Given the description of an element on the screen output the (x, y) to click on. 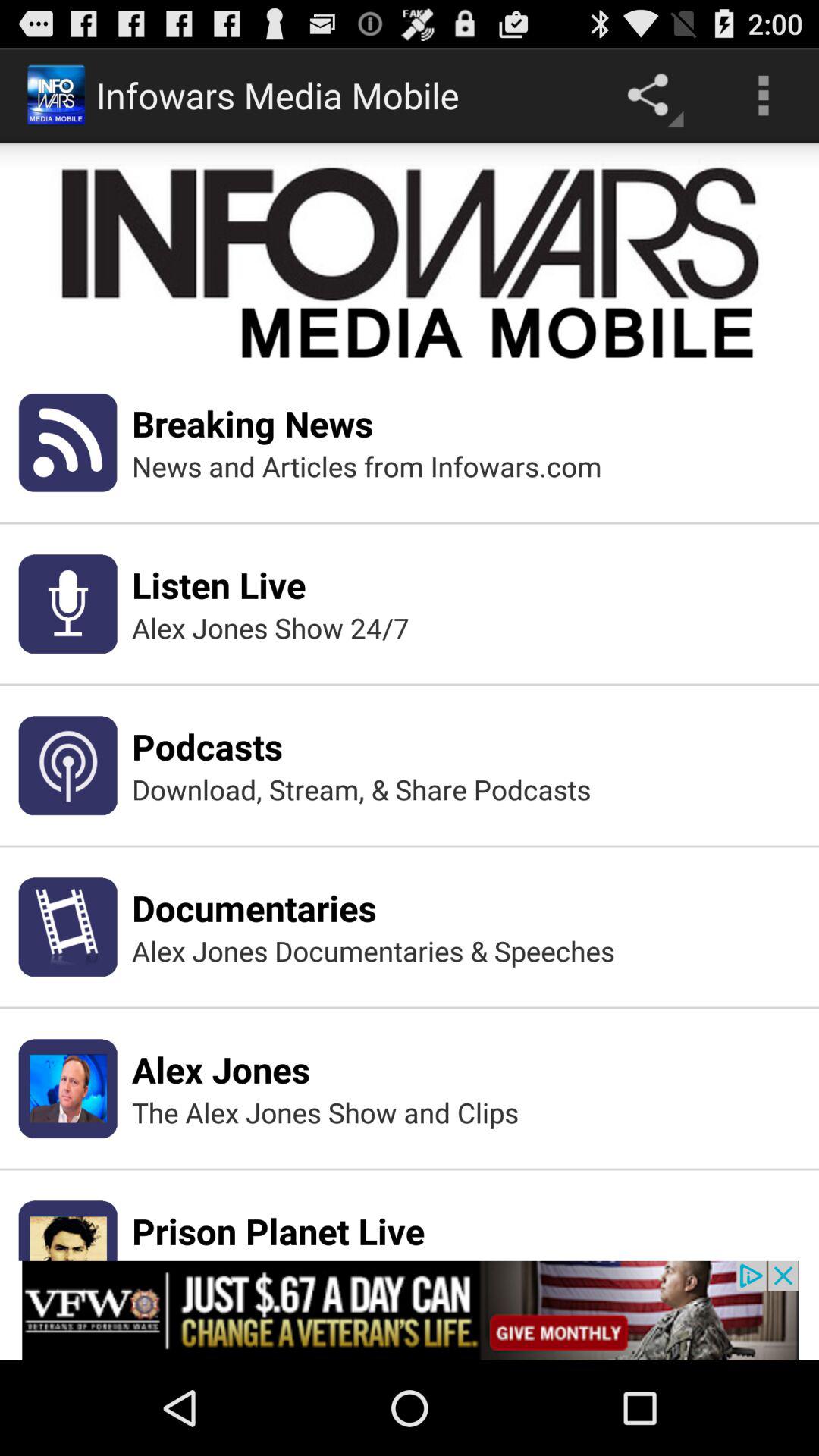
select the add link (409, 1310)
